Given the description of an element on the screen output the (x, y) to click on. 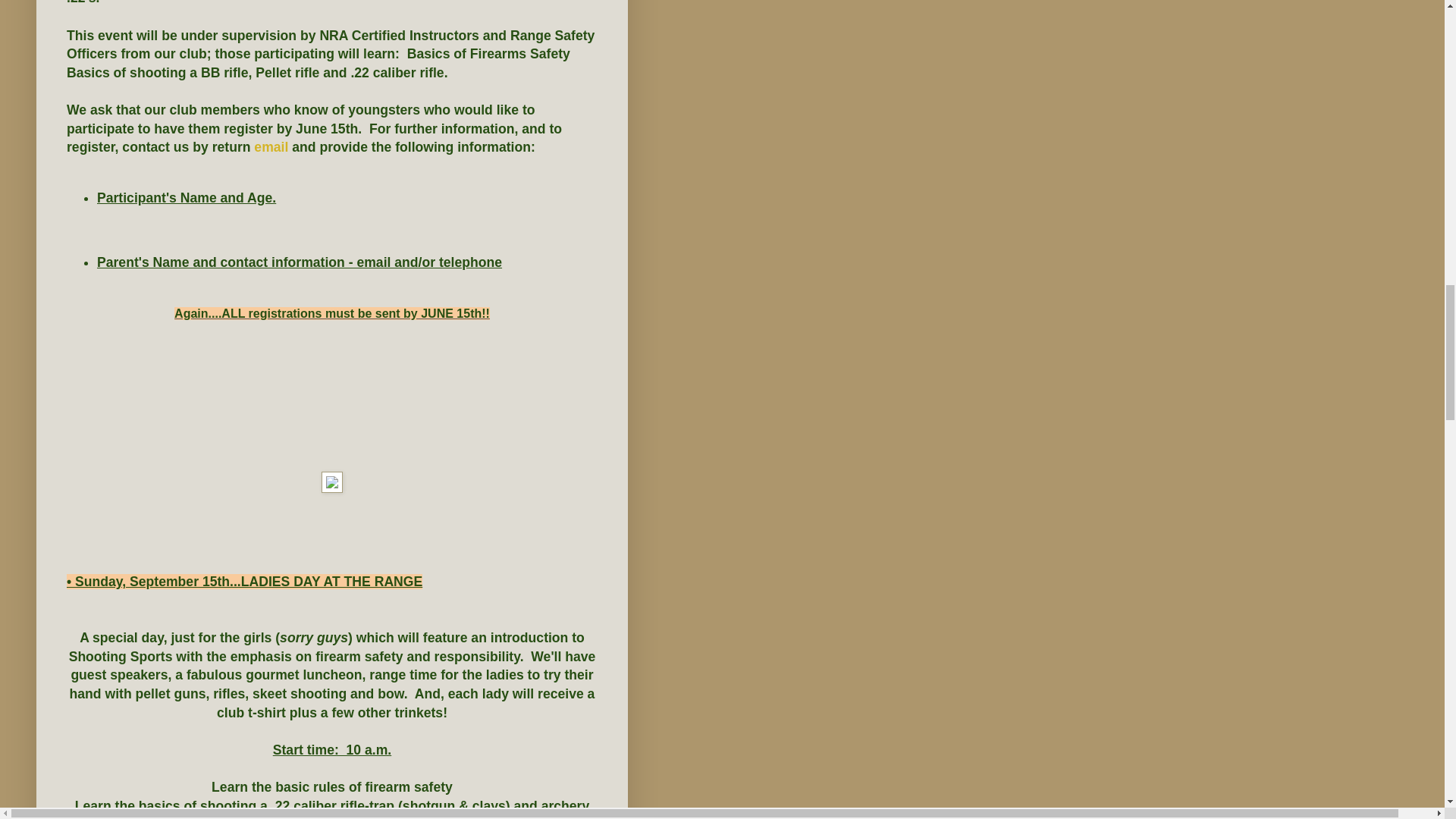
email (269, 146)
